Given the description of an element on the screen output the (x, y) to click on. 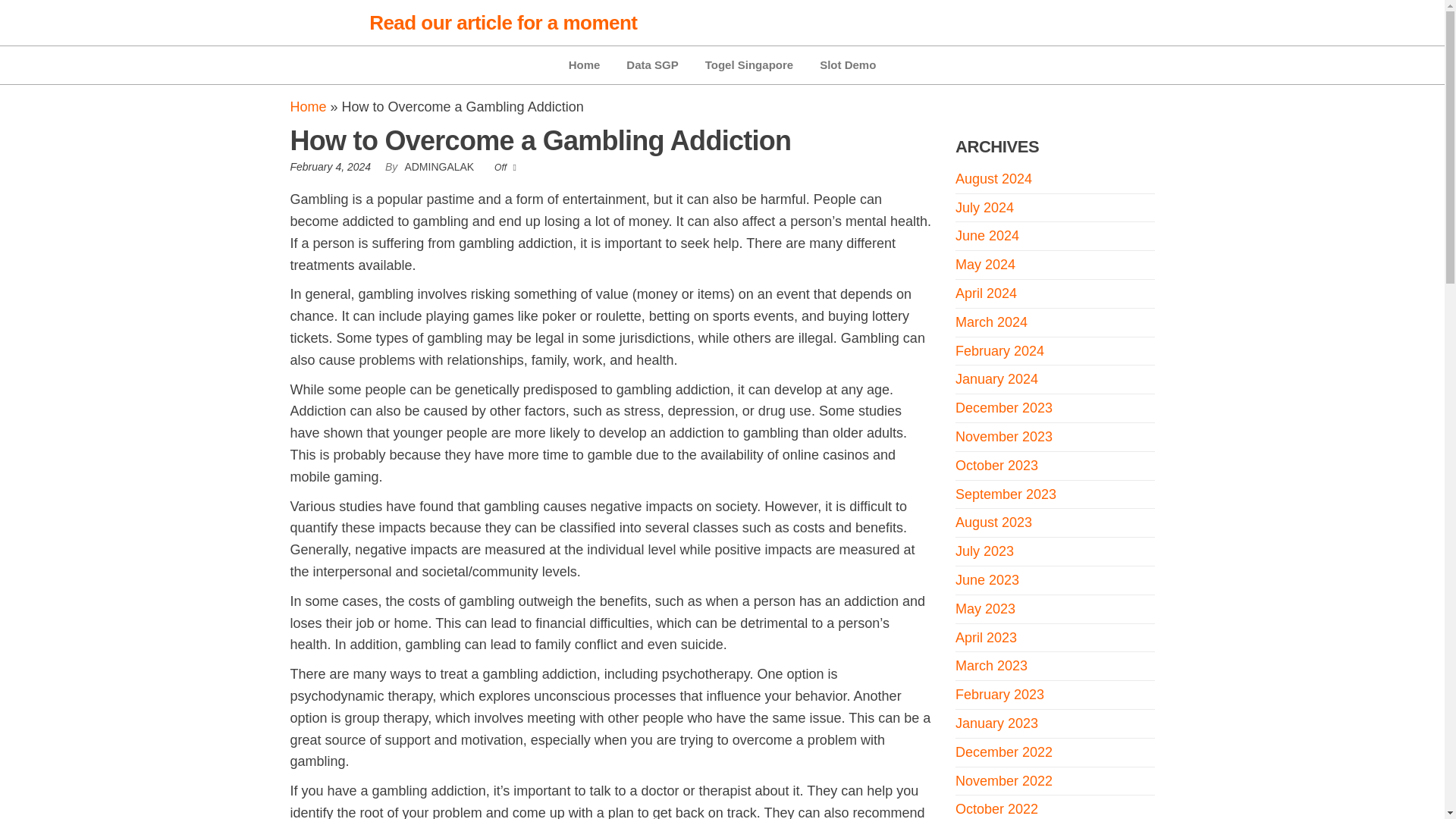
July 2024 (984, 207)
Home (584, 64)
October 2023 (996, 465)
November 2022 (1003, 780)
December 2022 (1003, 752)
October 2022 (996, 808)
Togel Singapore (749, 64)
Slot Demo (847, 64)
April 2023 (985, 637)
August 2024 (993, 178)
